Given the description of an element on the screen output the (x, y) to click on. 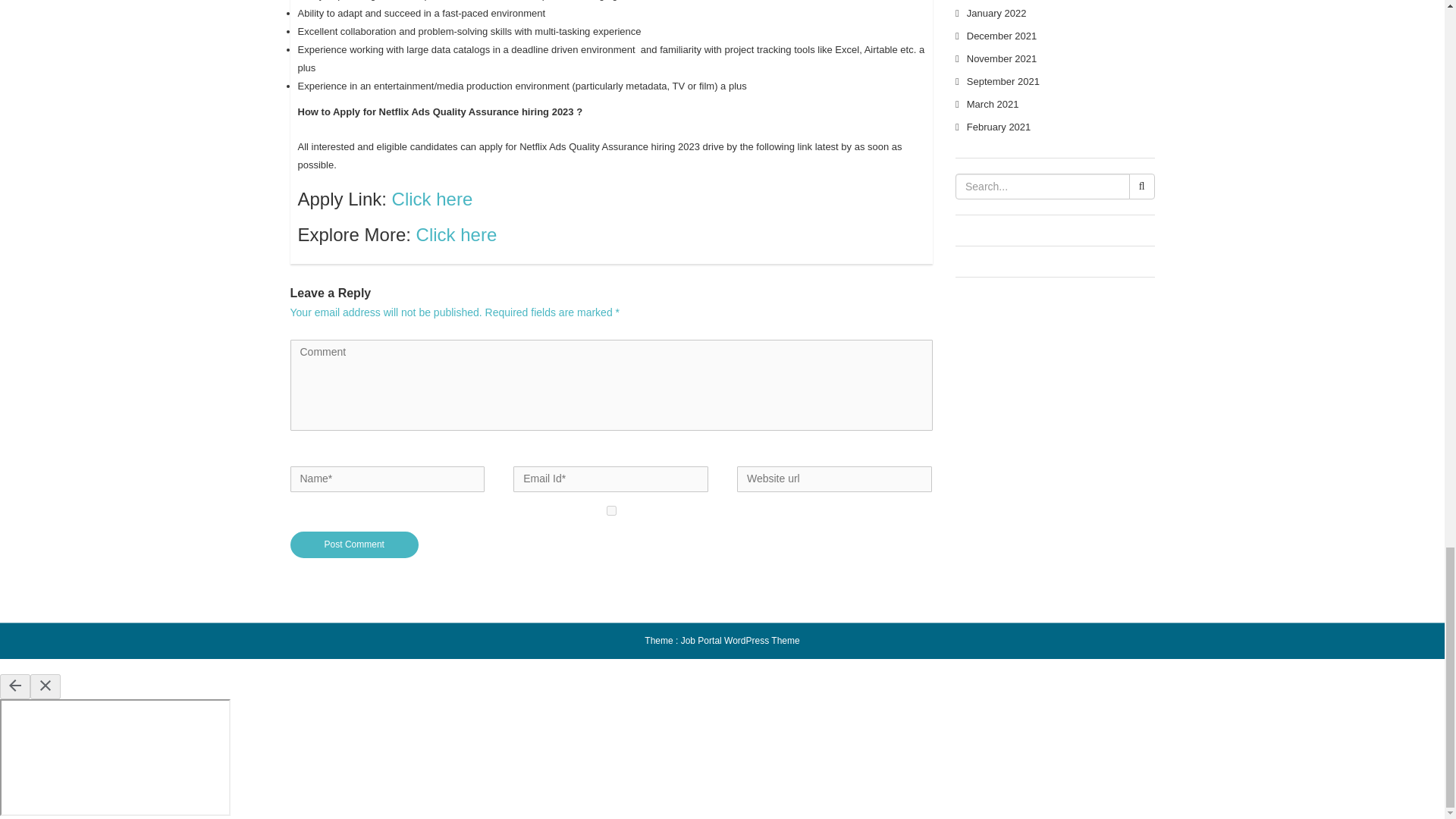
yes (611, 510)
Click here (456, 234)
Post Comment (354, 543)
Click here (432, 199)
Post Comment (354, 543)
